Given the description of an element on the screen output the (x, y) to click on. 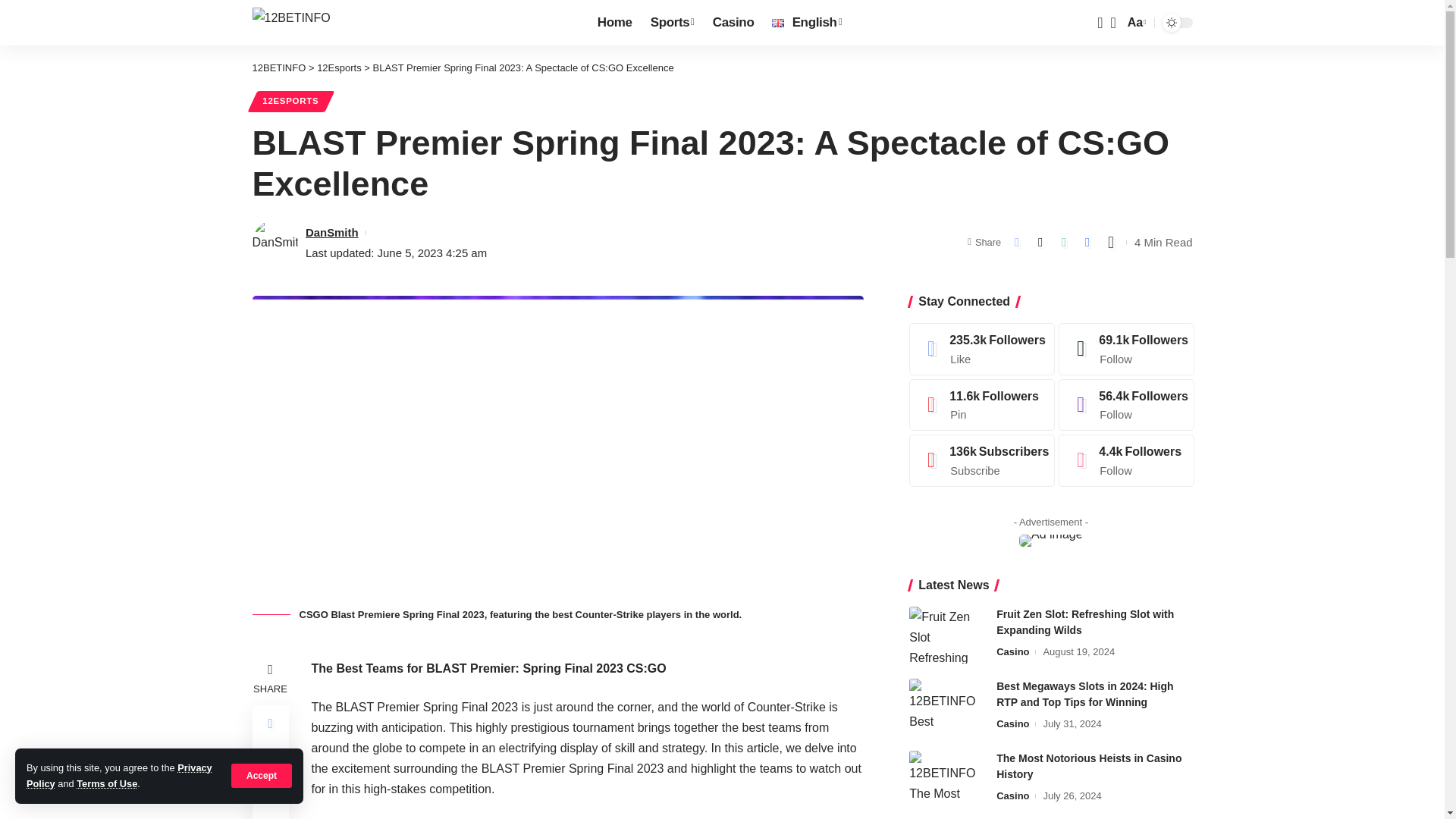
Go to the 12Esports Category archives. (339, 67)
Terms of Use (106, 783)
Go to 12BETINFO. (278, 67)
Fruit Zen Slot: Refreshing Slot with Expanding Wilds (946, 634)
English (806, 22)
12BETINFO (290, 21)
Home (615, 22)
Accept (261, 775)
Privacy Policy (119, 775)
